Given the description of an element on the screen output the (x, y) to click on. 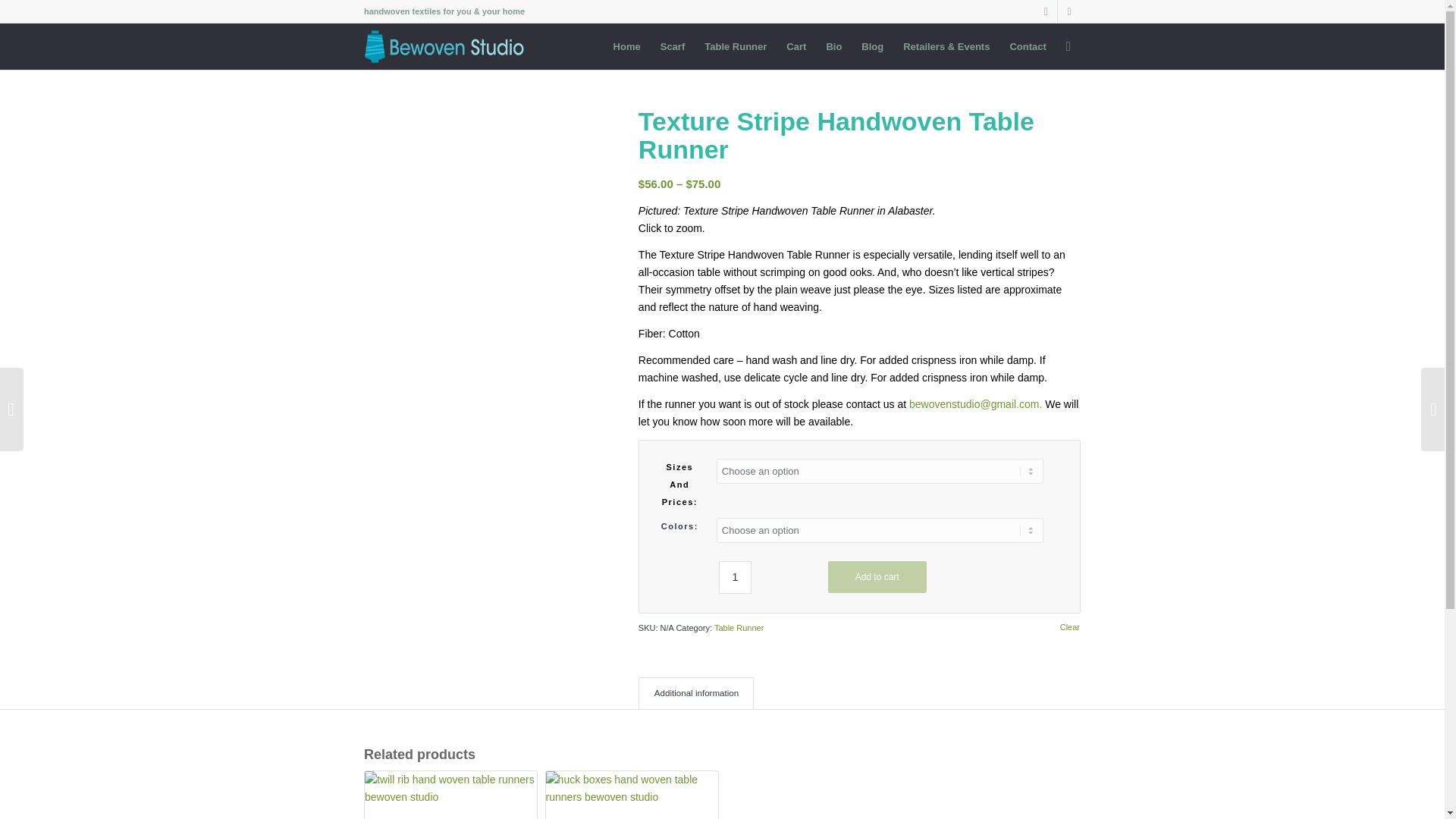
Instagram (1046, 11)
Additional information (696, 693)
Table Runner (738, 627)
Table Runner (735, 46)
Facebook (1069, 11)
bewoven-studio (448, 43)
bewoven-studio (448, 46)
Clear (1069, 627)
1 (735, 577)
Blog (872, 46)
